Given the description of an element on the screen output the (x, y) to click on. 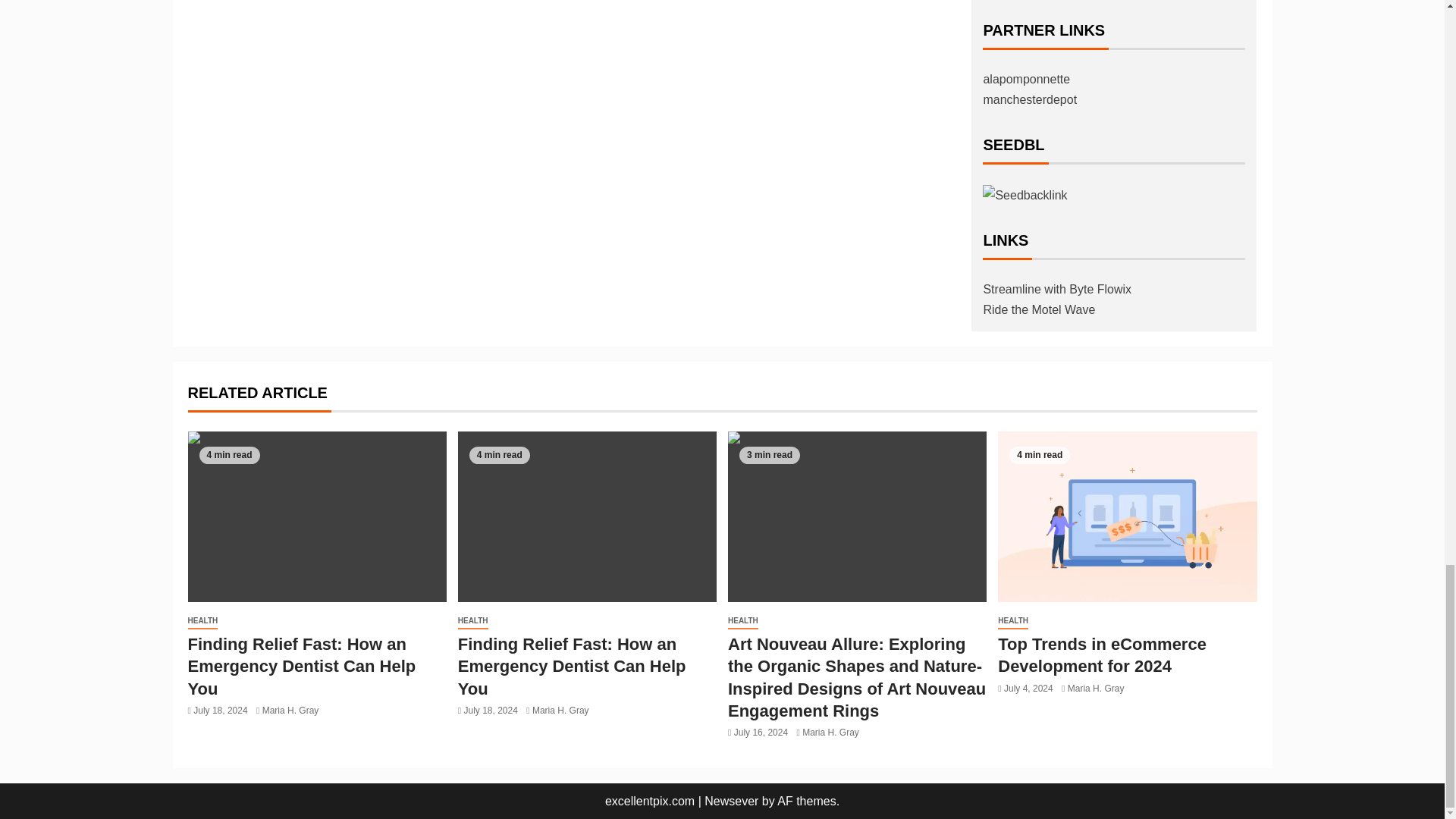
Seedbacklink (1024, 194)
